Given the description of an element on the screen output the (x, y) to click on. 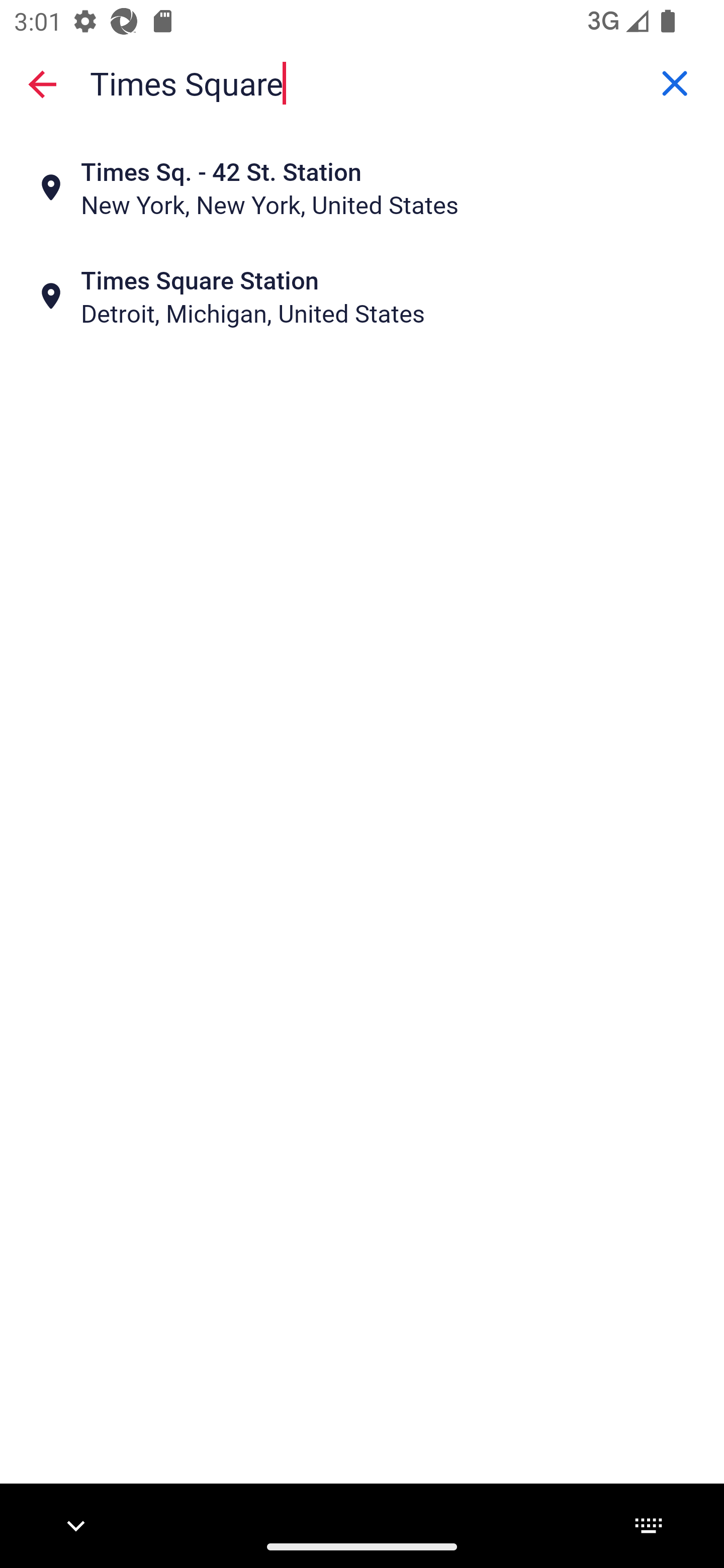
Clear Pick-up (674, 82)
Pick-up, Times Square (361, 82)
Close search screen (41, 83)
